Given the description of an element on the screen output the (x, y) to click on. 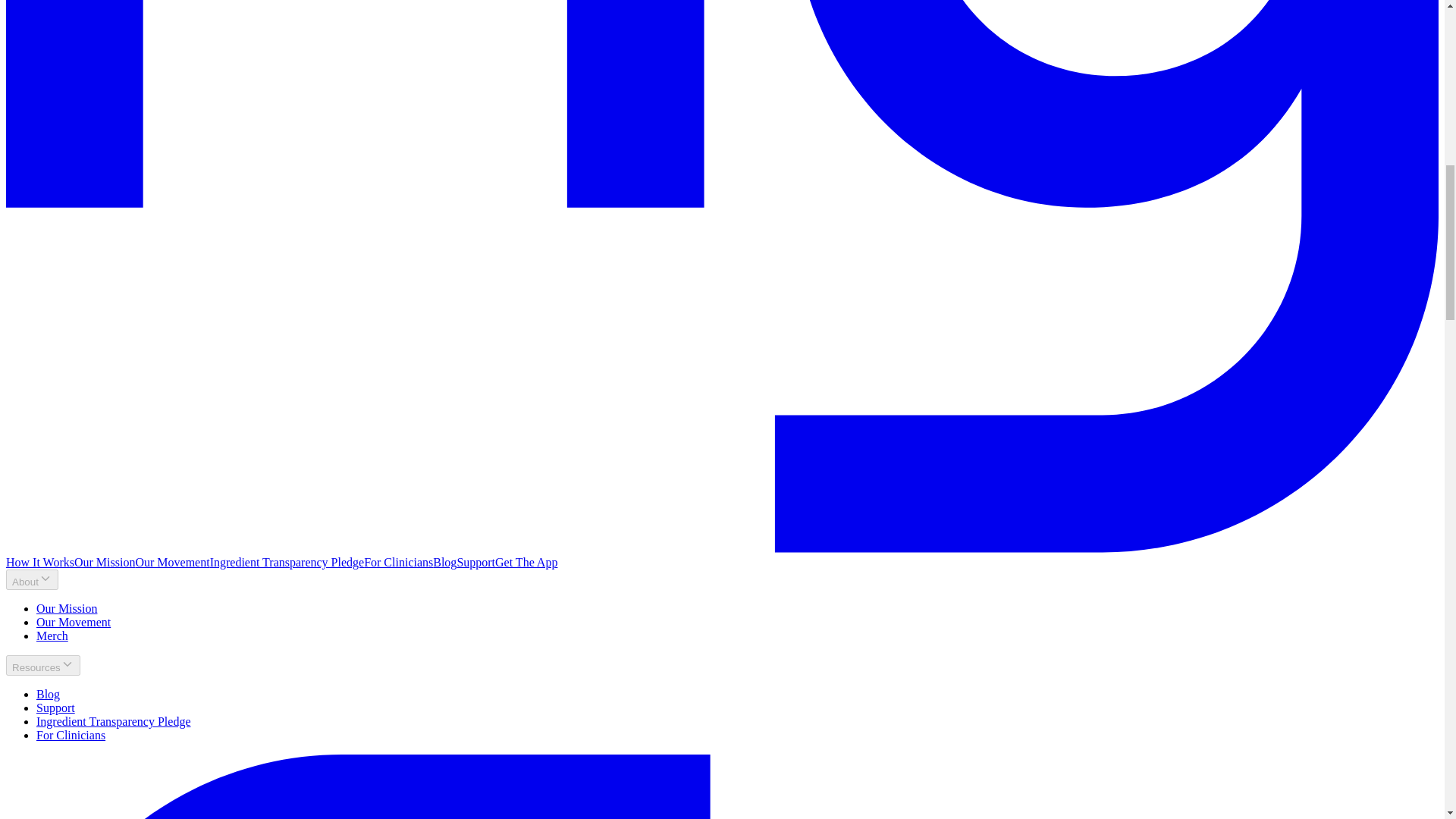
Our Mission (66, 608)
Blog (47, 694)
For Clinicians (70, 735)
About (31, 579)
About (31, 579)
Our Mission (66, 608)
For Clinicians (398, 562)
Our Movement (73, 621)
Get The App (526, 562)
Ingredient Transparency Pledge (113, 721)
For Clinicians (70, 735)
Blog (47, 694)
How It Works (39, 562)
Our Movement (172, 562)
Our Mission (104, 562)
